Given the description of an element on the screen output the (x, y) to click on. 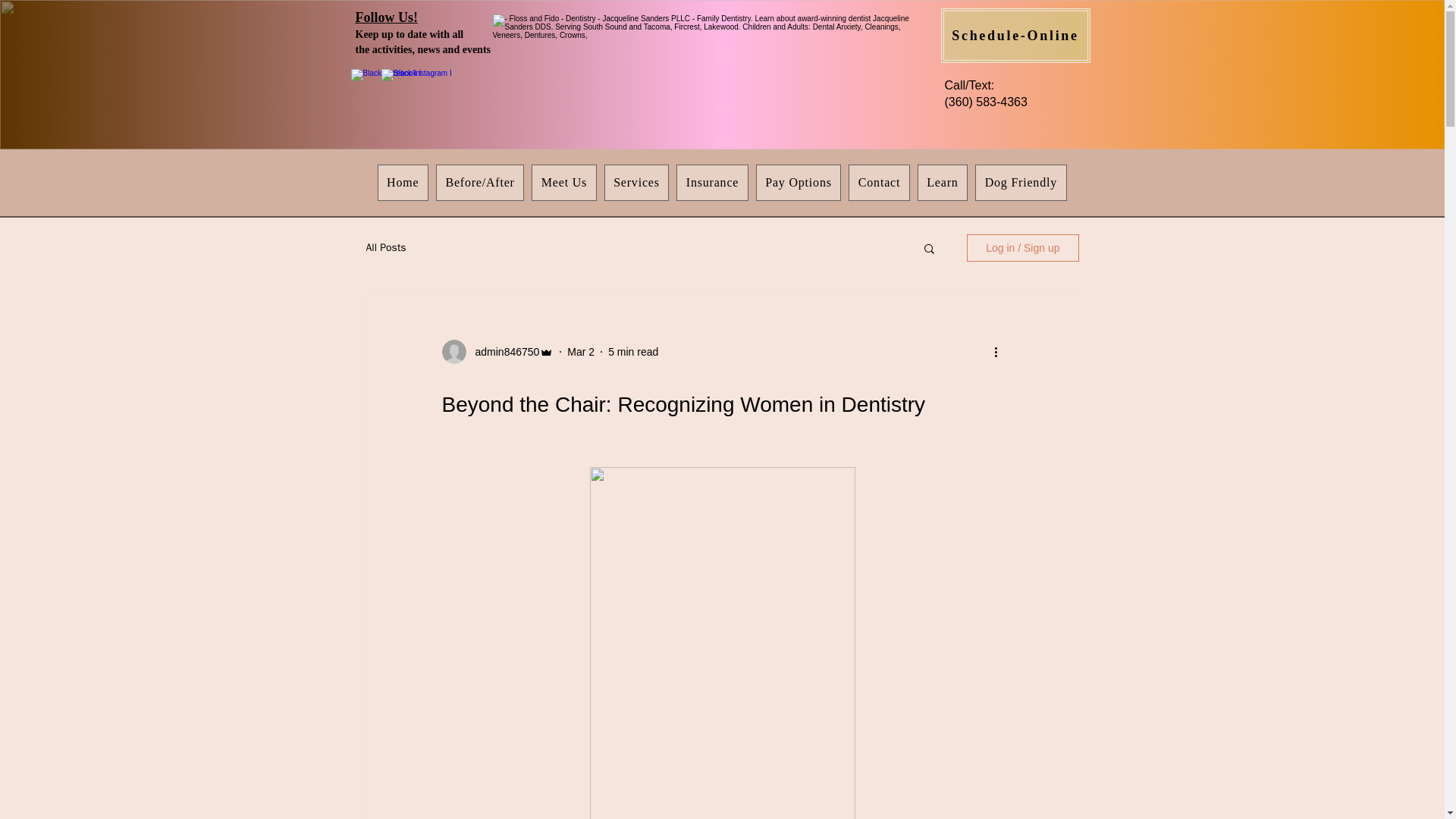
admin846750 (501, 351)
Mar 2 (580, 351)
Insurance (712, 182)
Schedule-Online (1014, 35)
5 min read (633, 351)
Home (402, 182)
Contact (878, 182)
Pay Options (798, 182)
Dog Friendly (1020, 182)
Learn (942, 182)
All Posts (385, 247)
Services (636, 182)
Meet Us (563, 182)
